Given the description of an element on the screen output the (x, y) to click on. 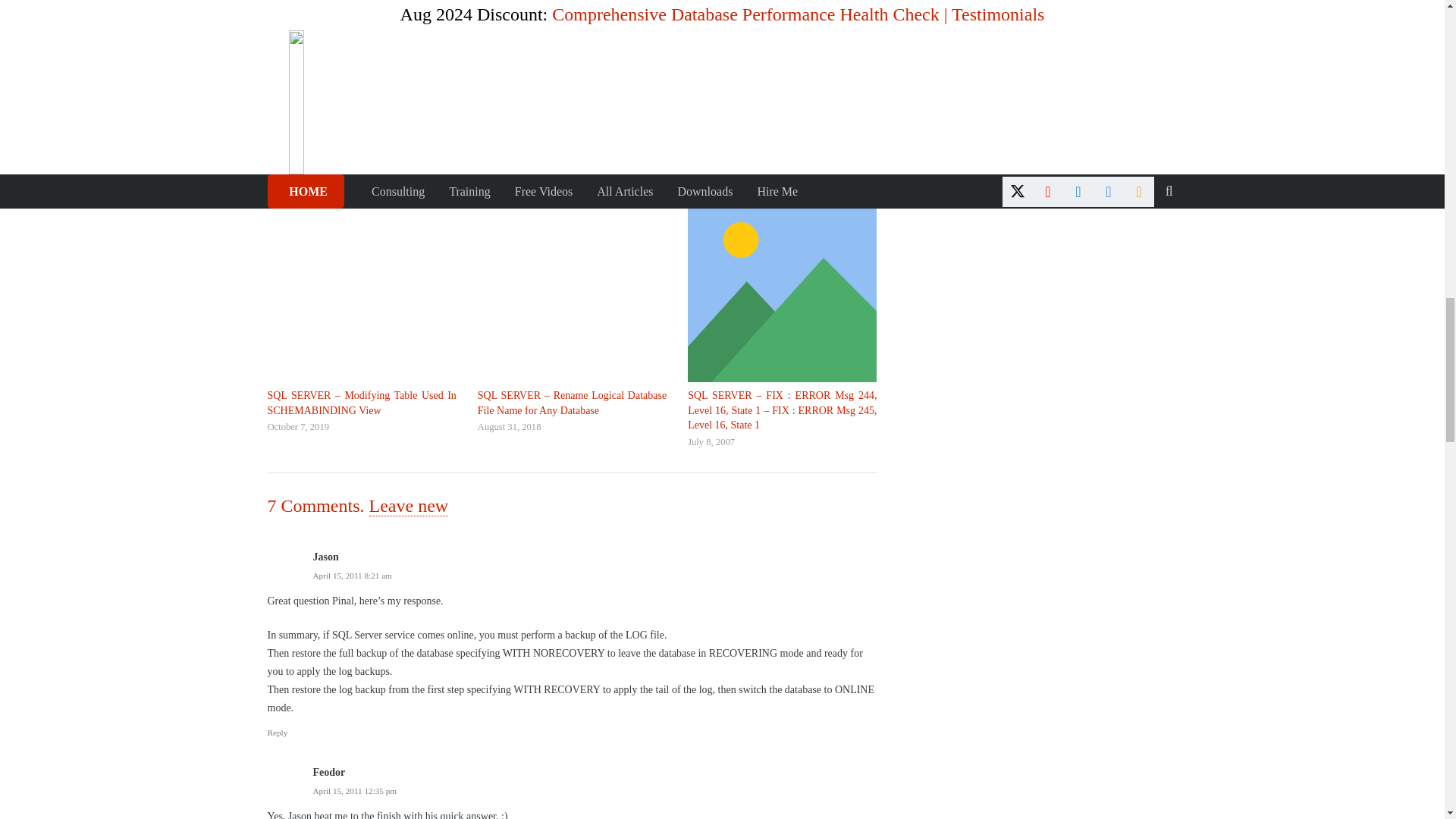
Share this (350, 2)
April 15, 2011 12:35 pm (354, 790)
Share this (282, 2)
Tweet this (317, 2)
April 15, 2011 8:21 am (352, 574)
